Given the description of an element on the screen output the (x, y) to click on. 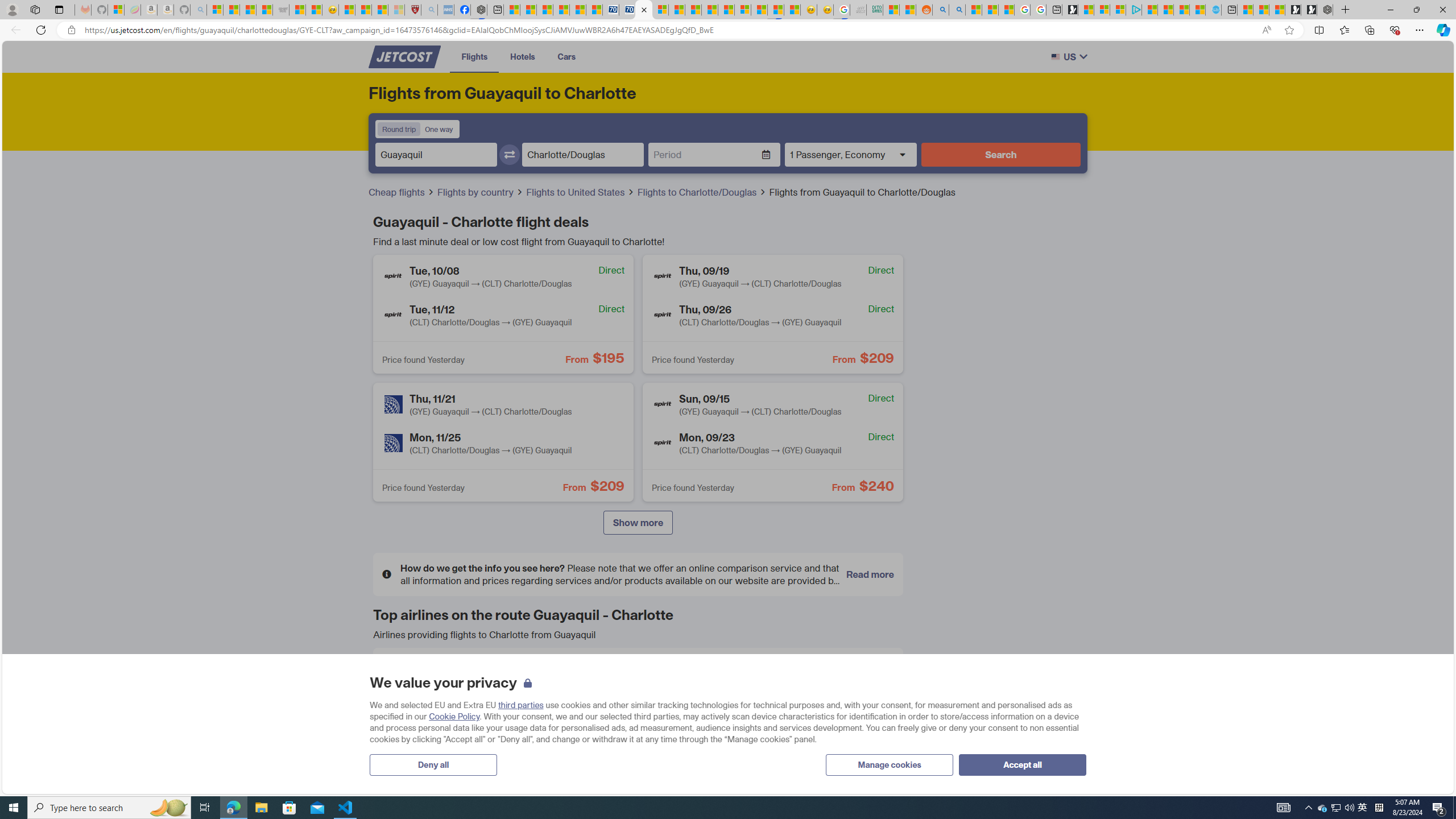
Flights to Charlotte/Douglas (697, 191)
Deny all (432, 764)
Class: w-full h-auto rounded-sm border border-gray-200 (1054, 56)
Flights (474, 56)
United United (465, 757)
